Given the description of an element on the screen output the (x, y) to click on. 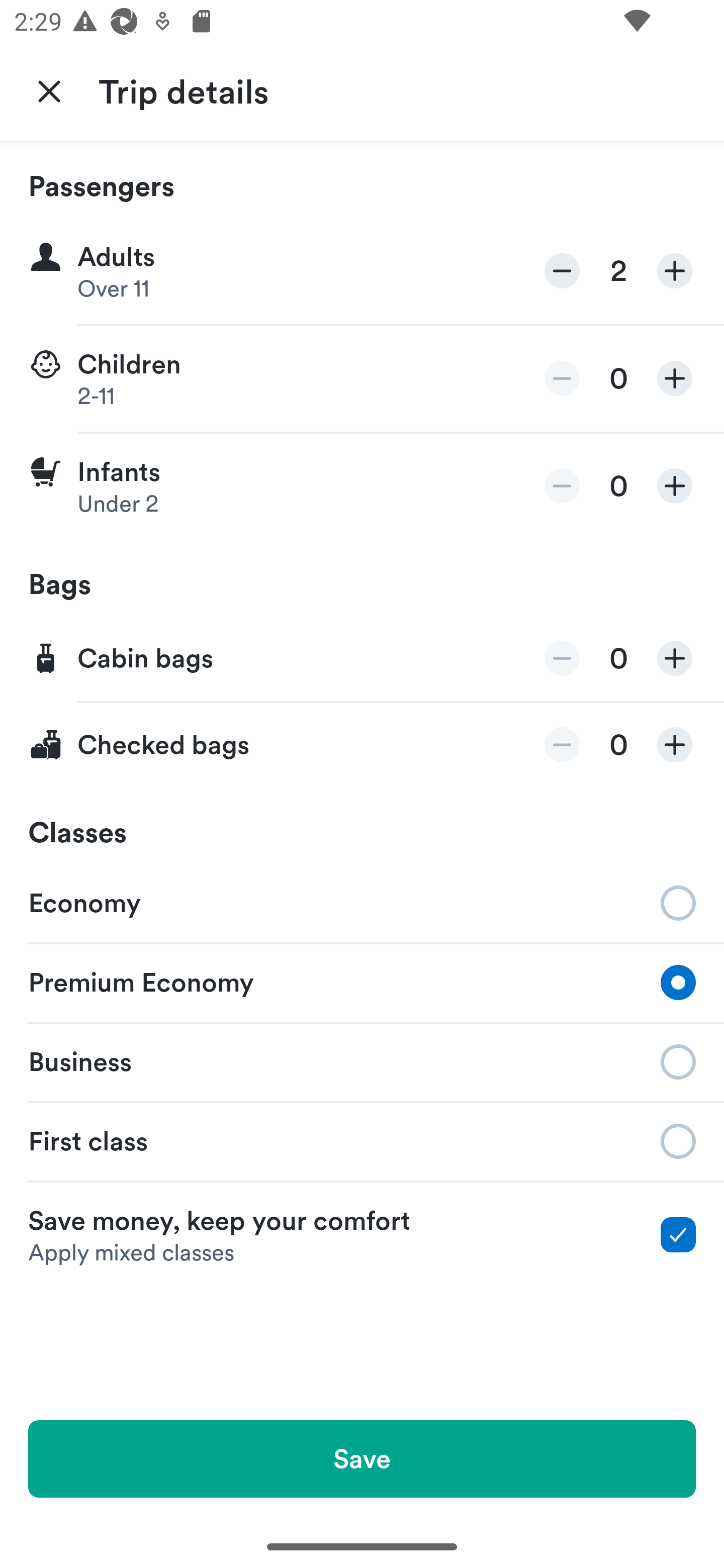
Navigate up (49, 90)
Remove 2 Add Adults Over 11 (362, 271)
Remove (561, 270)
Add (674, 270)
Remove 0 Add Children 2-11 (362, 379)
Remove (561, 377)
Add (674, 377)
Remove 0 Add Infants Under 2 (362, 485)
Remove (561, 485)
Add (674, 485)
Remove 0 Add Cabin bags (362, 659)
Remove (561, 658)
Add (674, 658)
Remove 0 Add Checked bags (362, 744)
Remove (561, 744)
Add (674, 744)
Economy (362, 901)
Business (362, 1060)
First class (362, 1141)
Save (361, 1458)
